Given the description of an element on the screen output the (x, y) to click on. 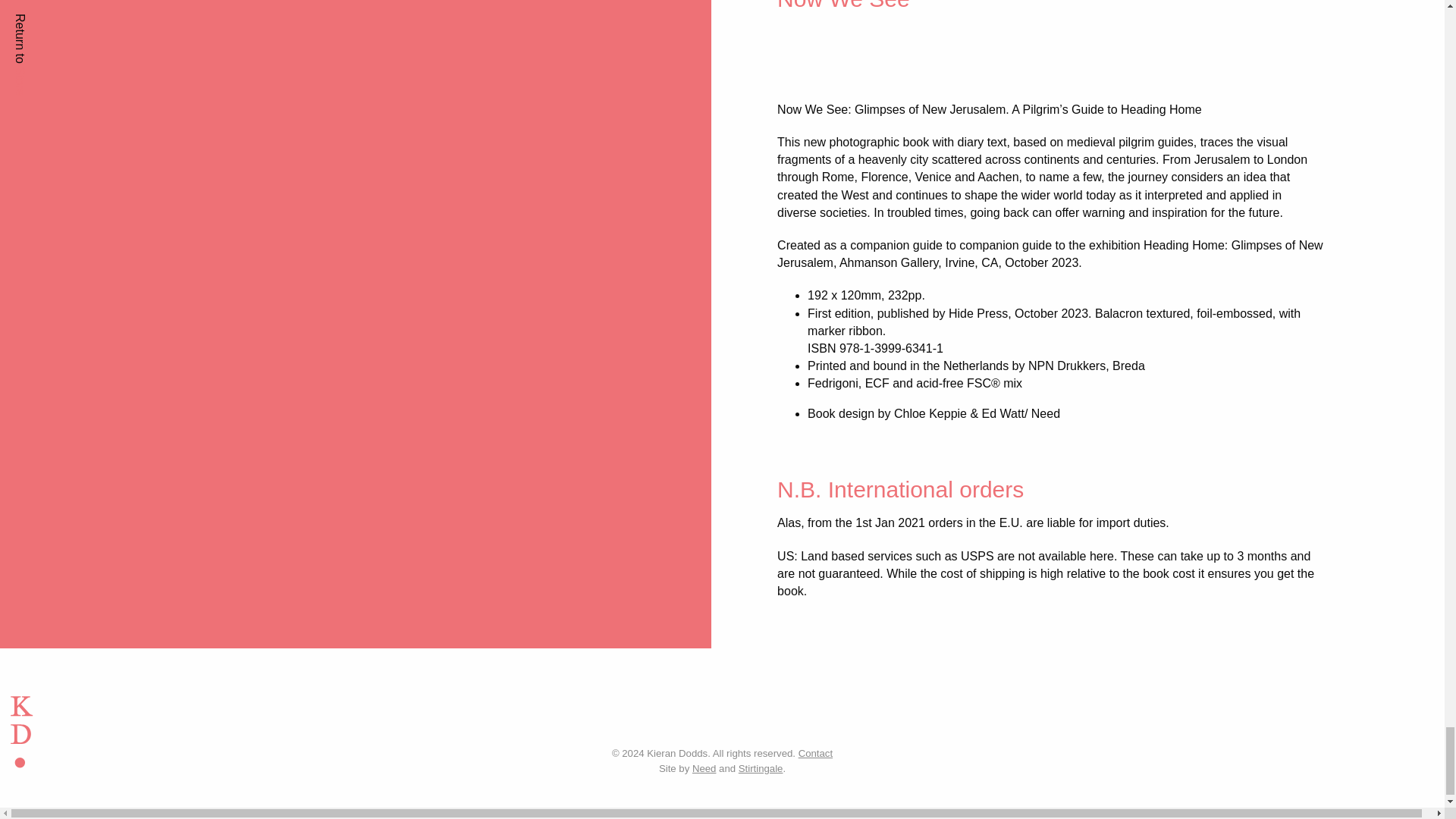
creative web design (760, 767)
Stirtingale (760, 767)
Need (704, 767)
Contact (814, 753)
